Given the description of an element on the screen output the (x, y) to click on. 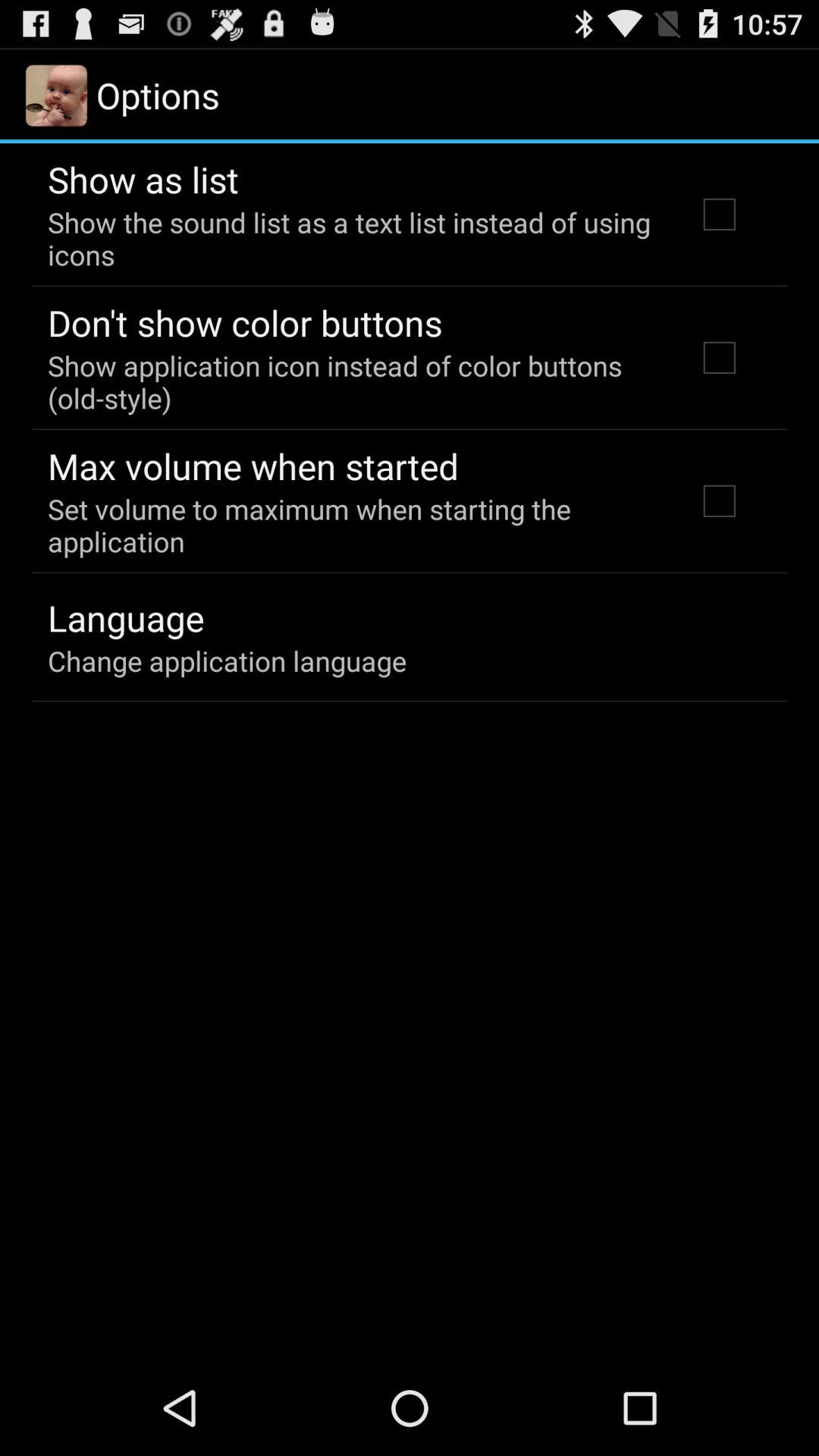
click on the first check button (719, 214)
select the text options along with the image left to it (125, 95)
go to the first check box from the top of the page (719, 214)
click on the second check box (719, 358)
